Given the description of an element on the screen output the (x, y) to click on. 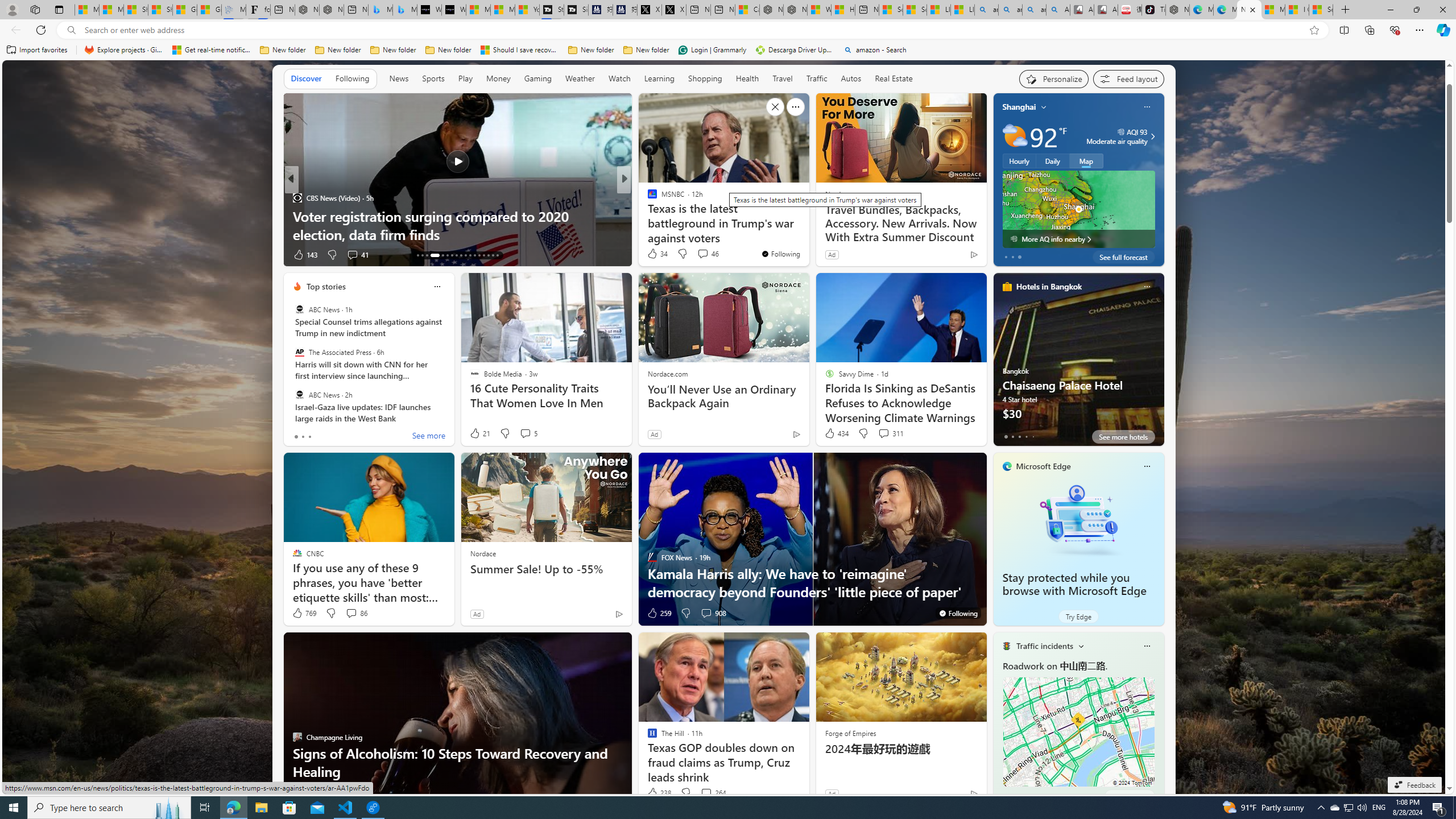
You're following MSNBC (780, 253)
The Associated Press (299, 352)
Microsoft Bing Travel - Shangri-La Hotel Bangkok (404, 9)
View comments 311 Comment (883, 432)
49 Like (652, 254)
62 Like (652, 254)
aqi-icon (1121, 131)
